Given the description of an element on the screen output the (x, y) to click on. 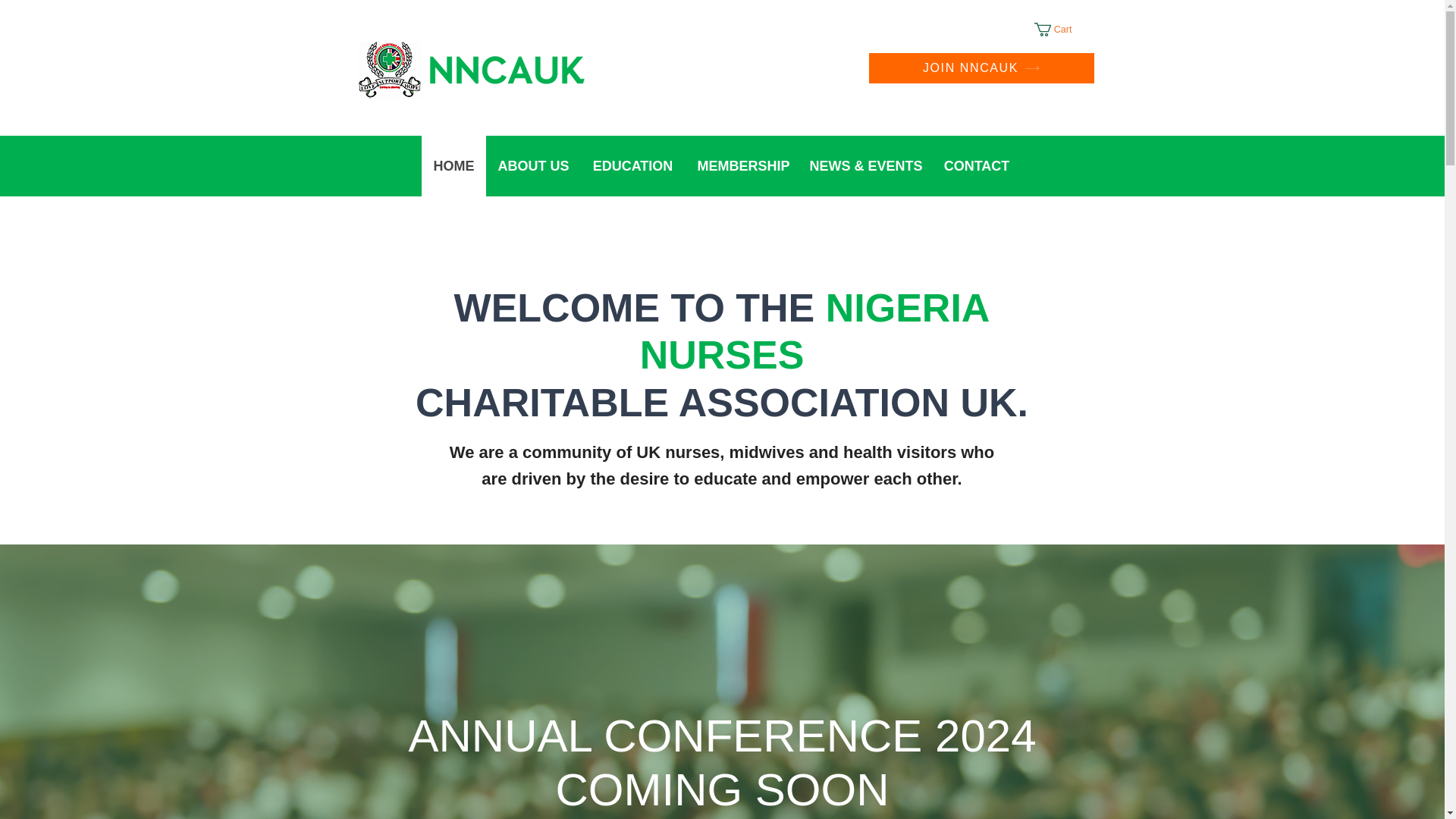
CONTACT (976, 165)
ABOUT US (531, 165)
HOME (454, 165)
MEMBERSHIP (741, 165)
Cart (1061, 29)
Cart (1061, 29)
EDUCATION (631, 165)
JOIN NNCAUK (981, 68)
